Given the description of an element on the screen output the (x, y) to click on. 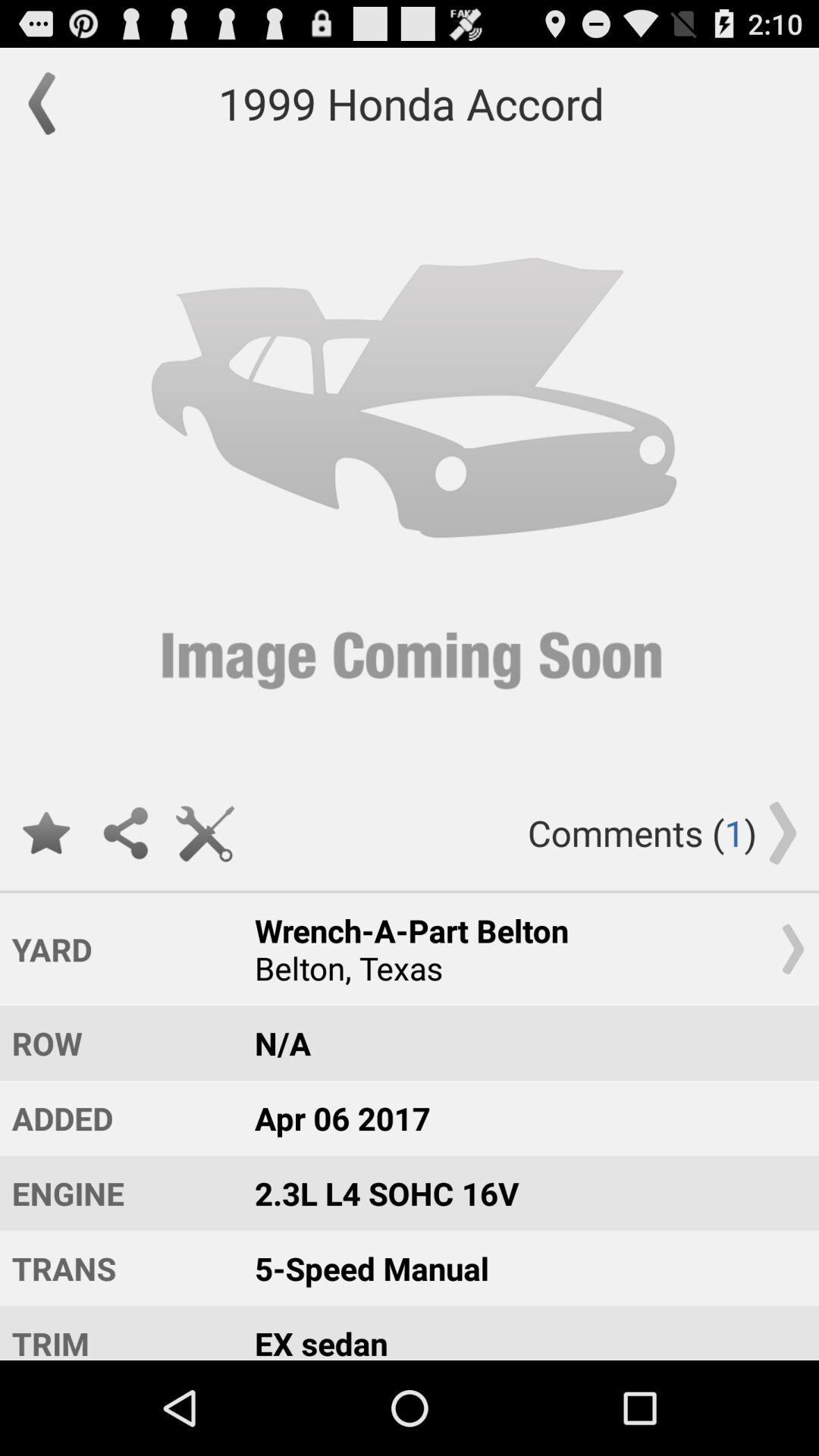
choose the icon to the right of row item (522, 1042)
